Given the description of an element on the screen output the (x, y) to click on. 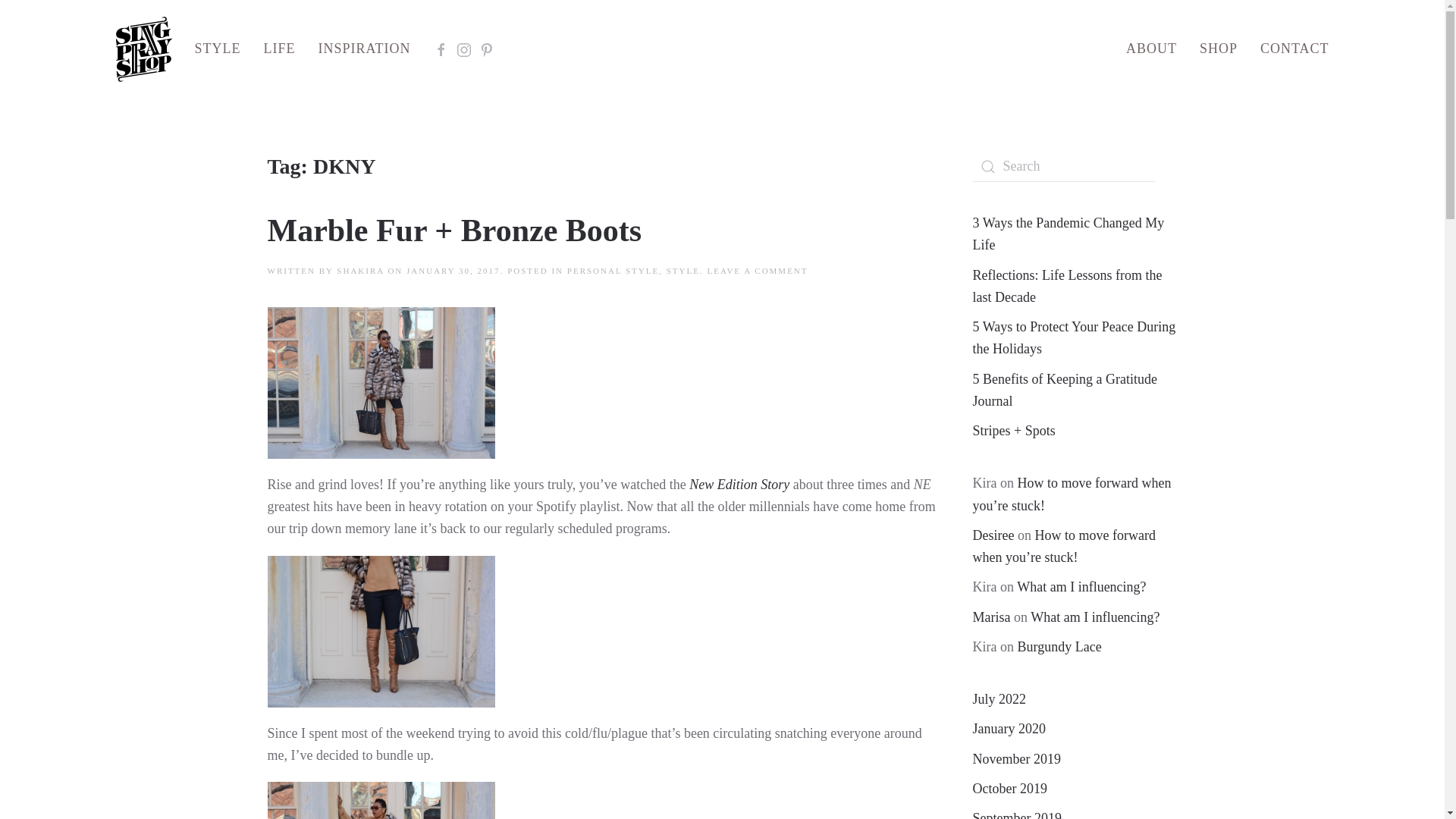
5 Benefits of Keeping a Gratitude Journal (1064, 389)
5 Ways to Protect Your Peace During the Holidays (1073, 337)
STYLE (683, 270)
Reflections: Life Lessons from the last Decade (1066, 284)
October 2019 (1009, 788)
Marisa (991, 616)
INSPIRATION (363, 49)
LEAVE A COMMENT (757, 270)
July 2022 (999, 698)
November 2019 (1015, 758)
